Given the description of an element on the screen output the (x, y) to click on. 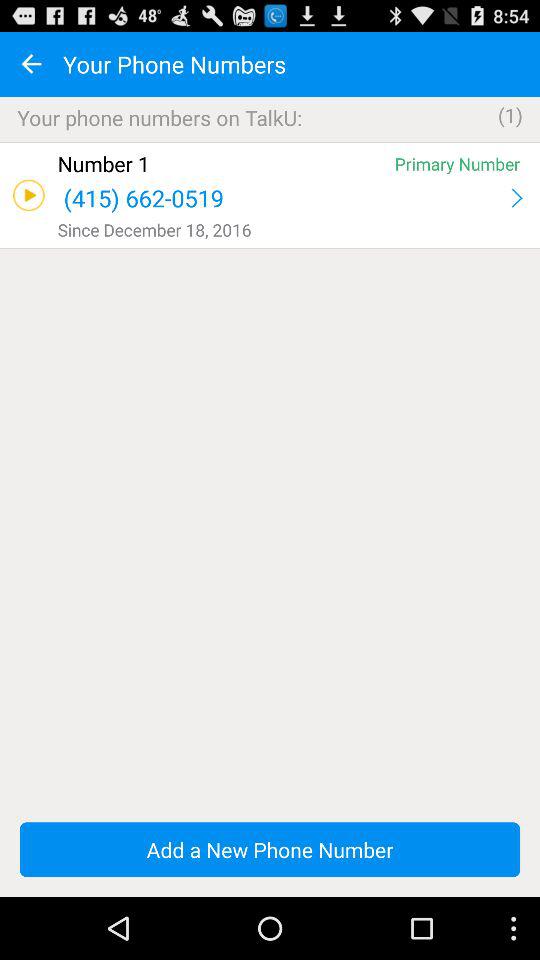
tap app below the primary number icon (516, 198)
